Given the description of an element on the screen output the (x, y) to click on. 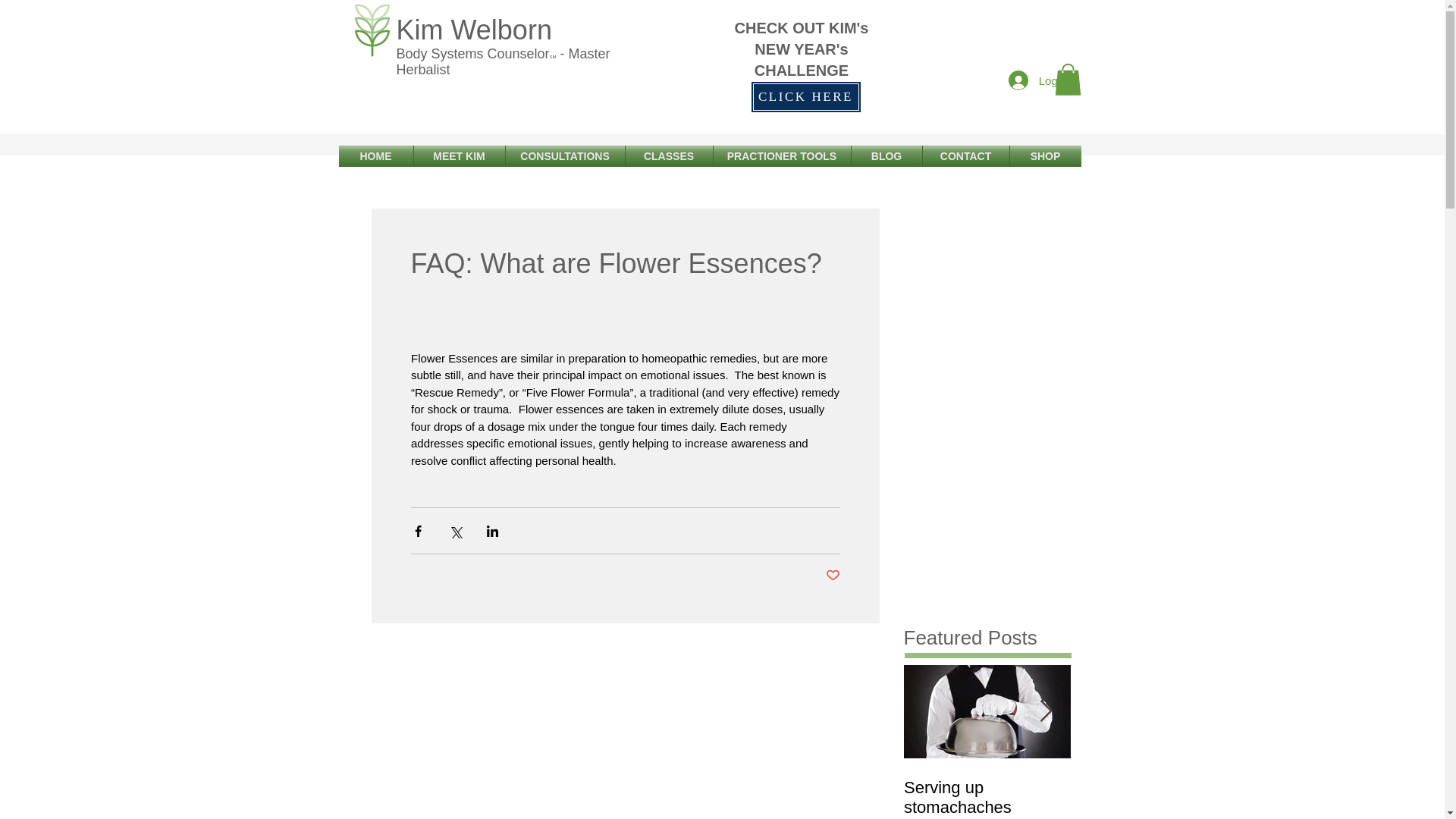
PRACTIONER TOOLS (781, 156)
SHOP (1045, 156)
Post not marked as liked (832, 575)
CLICK HERE (806, 97)
Kim Welborn (473, 29)
CLASSES (667, 156)
CONSULTATIONS (564, 156)
BLOG (885, 156)
CONTACT (965, 156)
Log In (1039, 80)
